Given the description of an element on the screen output the (x, y) to click on. 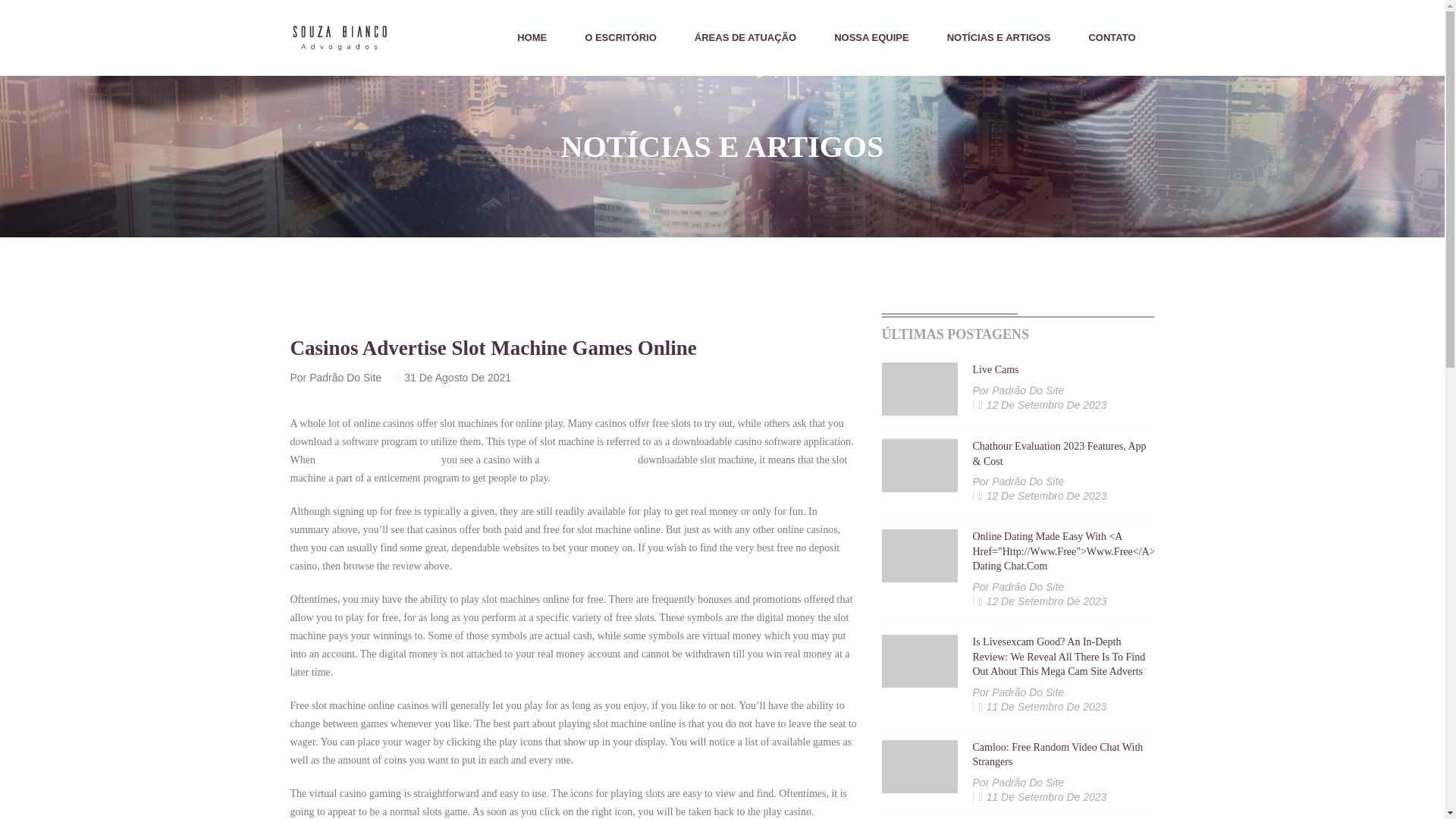
NOSSA EQUIPE (871, 38)
CONTATO (1111, 38)
HOME (531, 38)
